Given the description of an element on the screen output the (x, y) to click on. 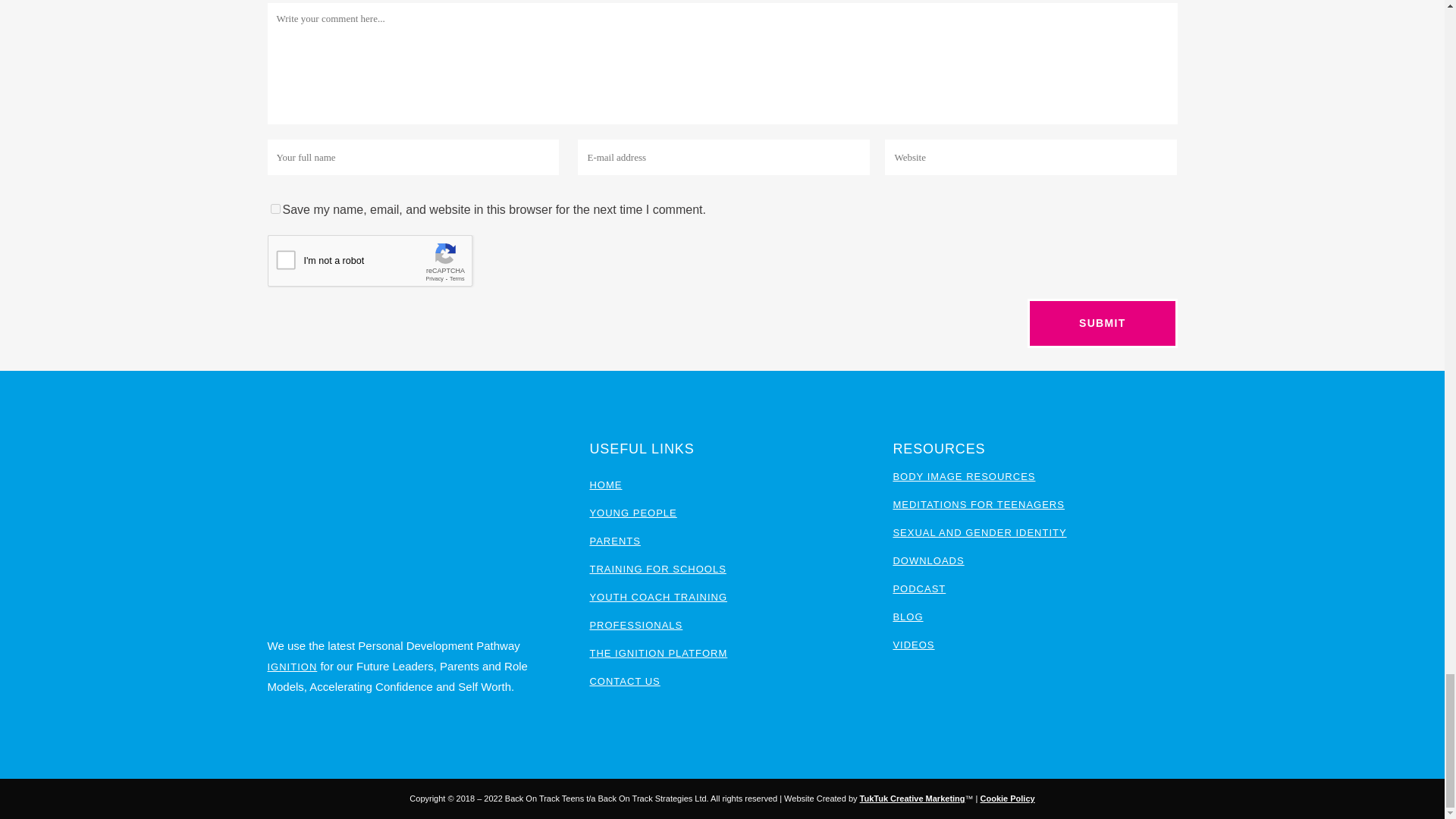
yes (274, 208)
Submit (1101, 323)
reCAPTCHA (381, 264)
